Given the description of an element on the screen output the (x, y) to click on. 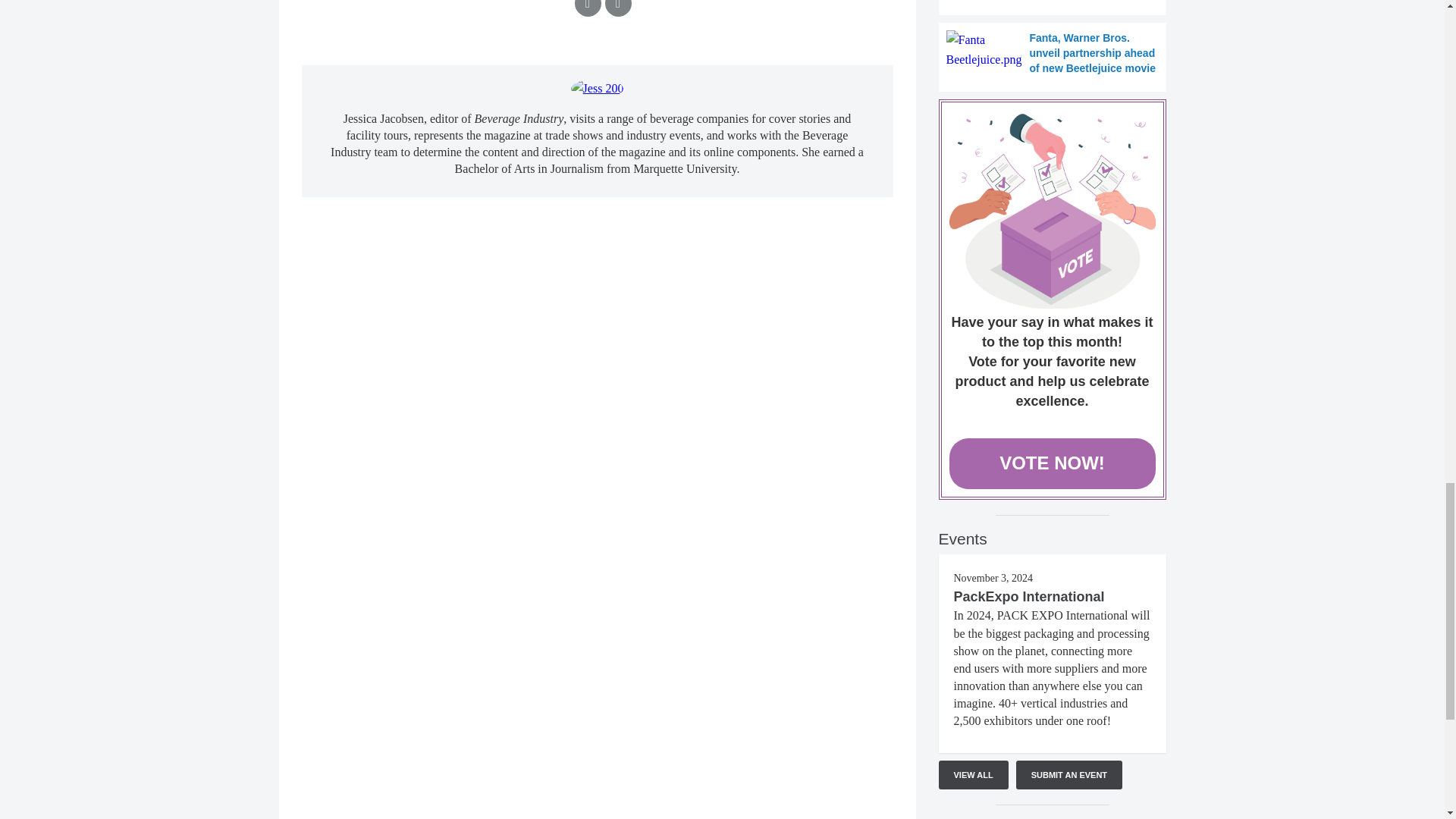
Vote (1052, 210)
PackExpo International (1029, 596)
